Given the description of an element on the screen output the (x, y) to click on. 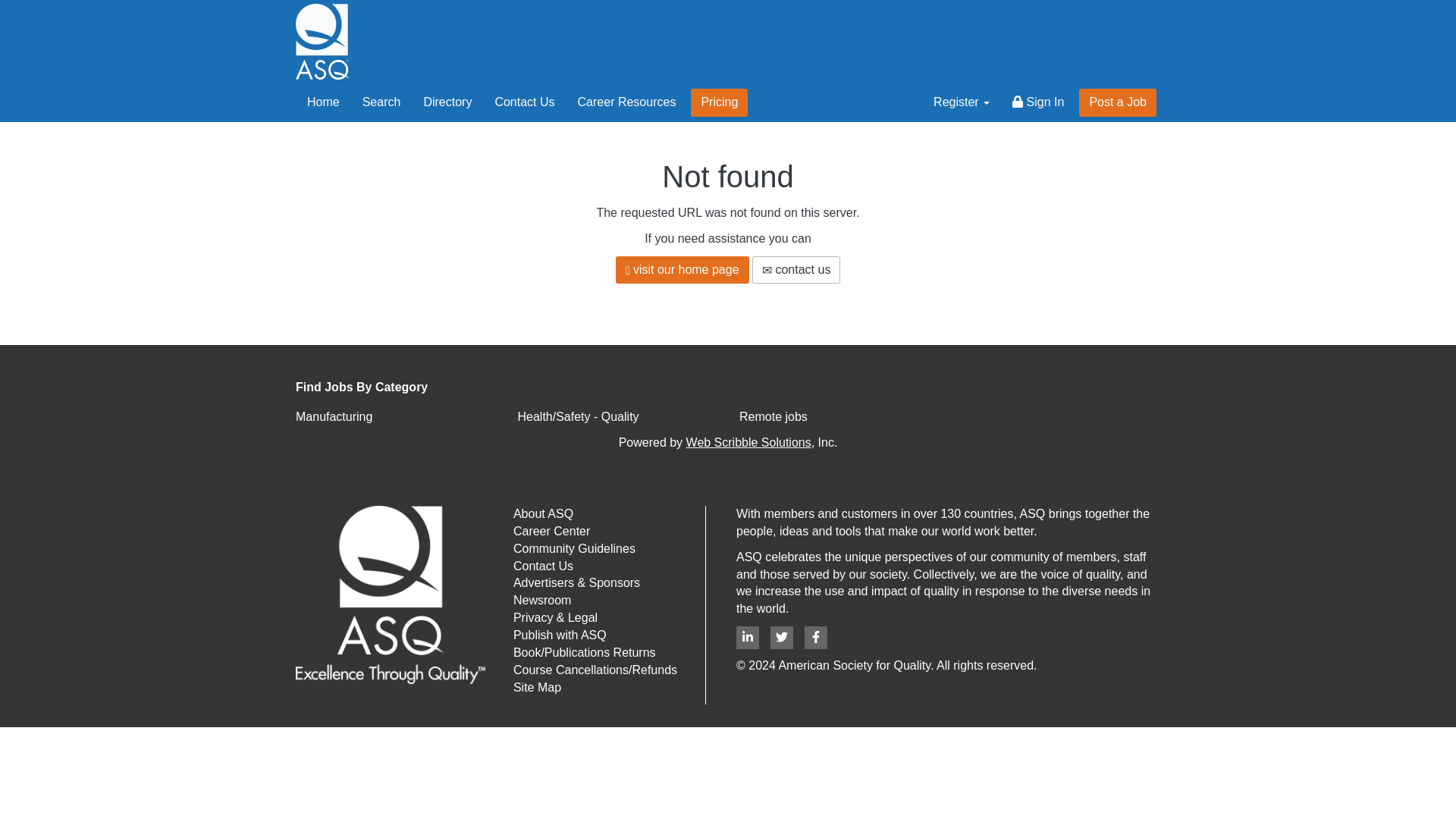
Find Jobs By Category (727, 387)
Sign In (1038, 102)
Register (961, 102)
Manufacturing (333, 416)
Publish with ASQ (560, 634)
Career Center (551, 530)
contact us (796, 270)
Directory (447, 102)
Web Scribble Solutions (747, 441)
About ASQ (543, 513)
